Given the description of an element on the screen output the (x, y) to click on. 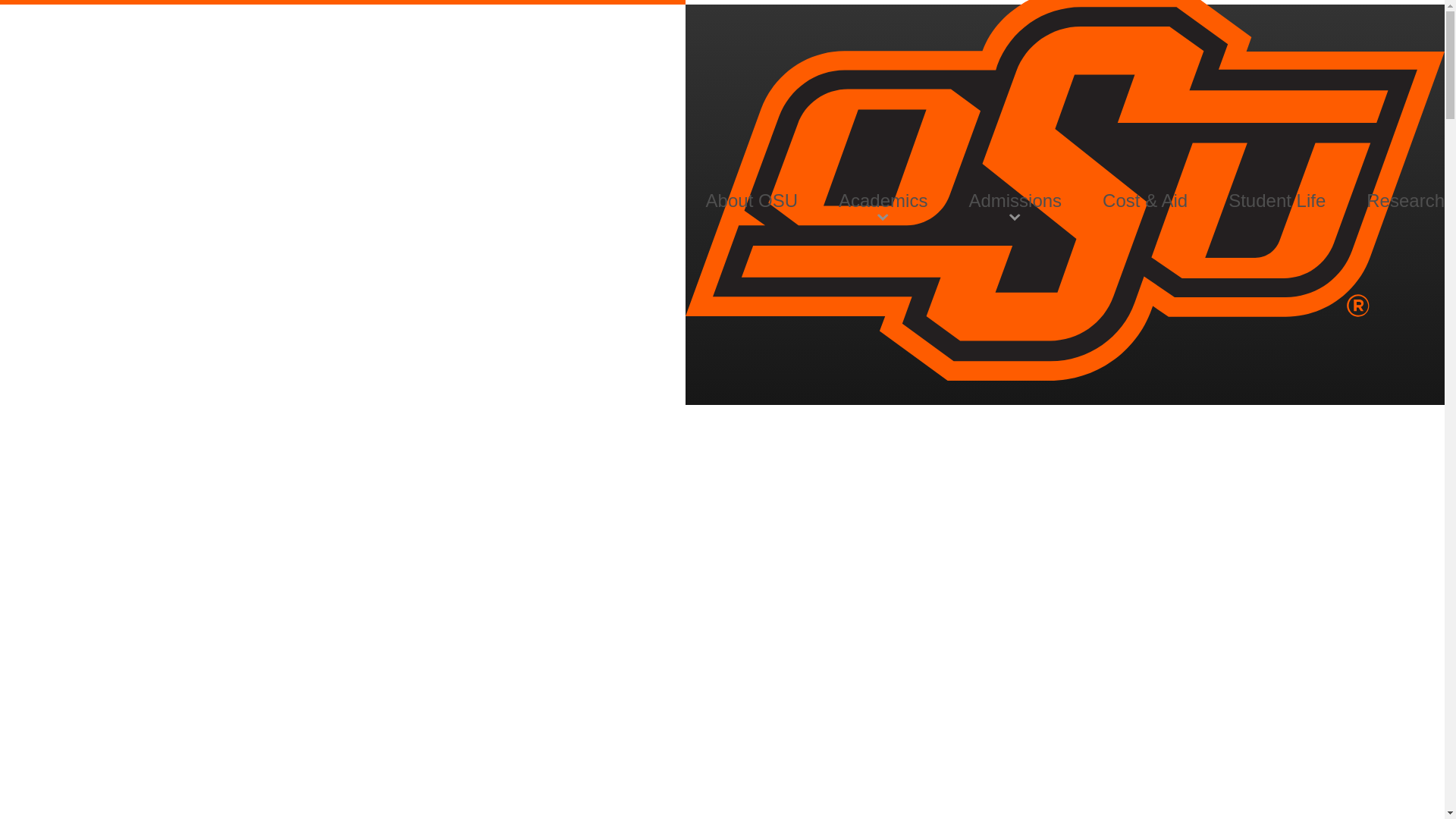
Directory (1409, 204)
Current Students (1192, 204)
Search (1317, 145)
myOKSTATE (1346, 204)
About OSU (751, 200)
Admissions (1014, 200)
Academics (882, 200)
